Given the description of an element on the screen output the (x, y) to click on. 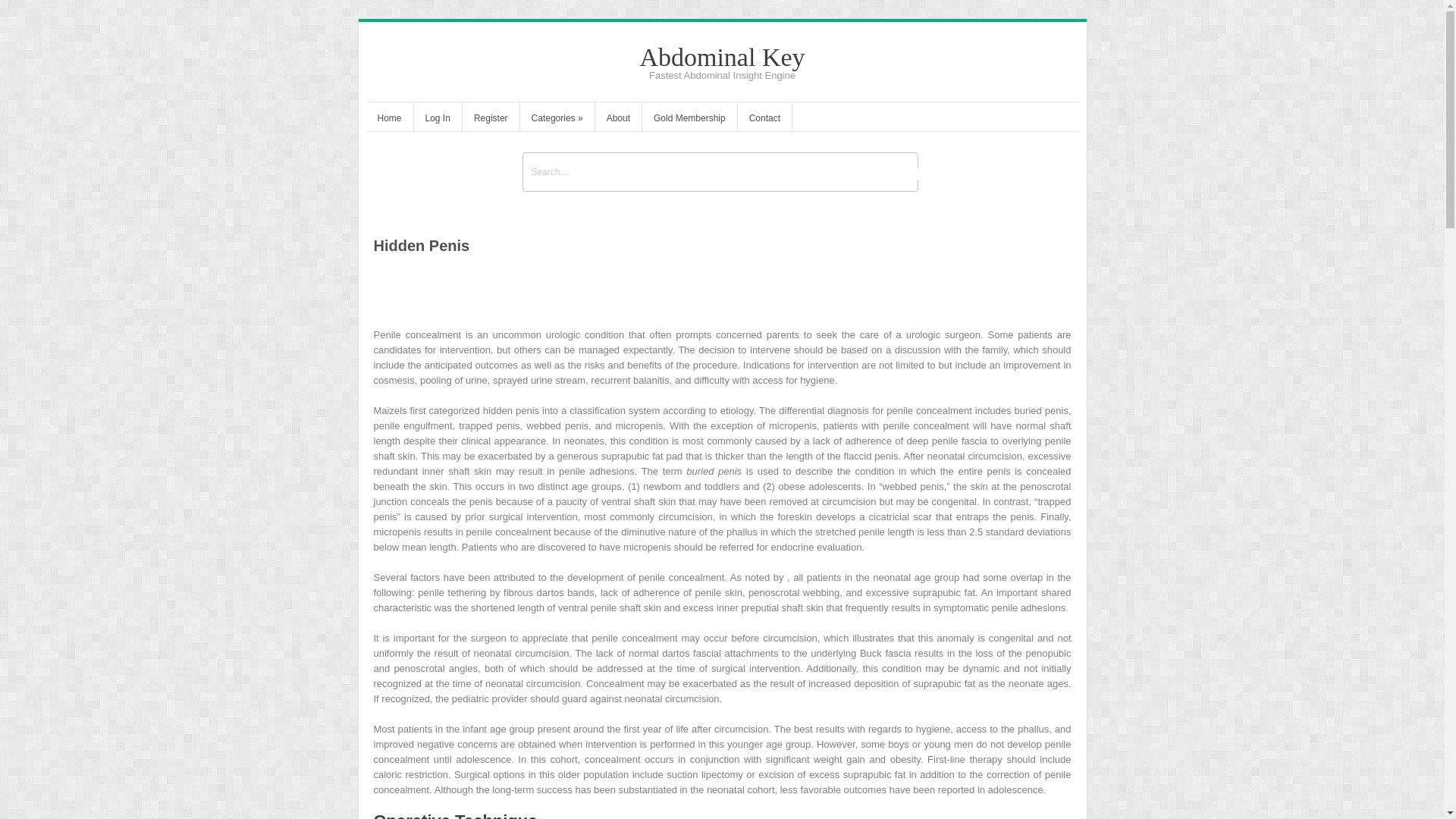
Gold Membership (689, 119)
About (618, 119)
Register (491, 119)
Home (388, 119)
Abdominal Key (722, 57)
Abdominal Key (722, 57)
Contact (765, 119)
Log In (437, 119)
